Given the description of an element on the screen output the (x, y) to click on. 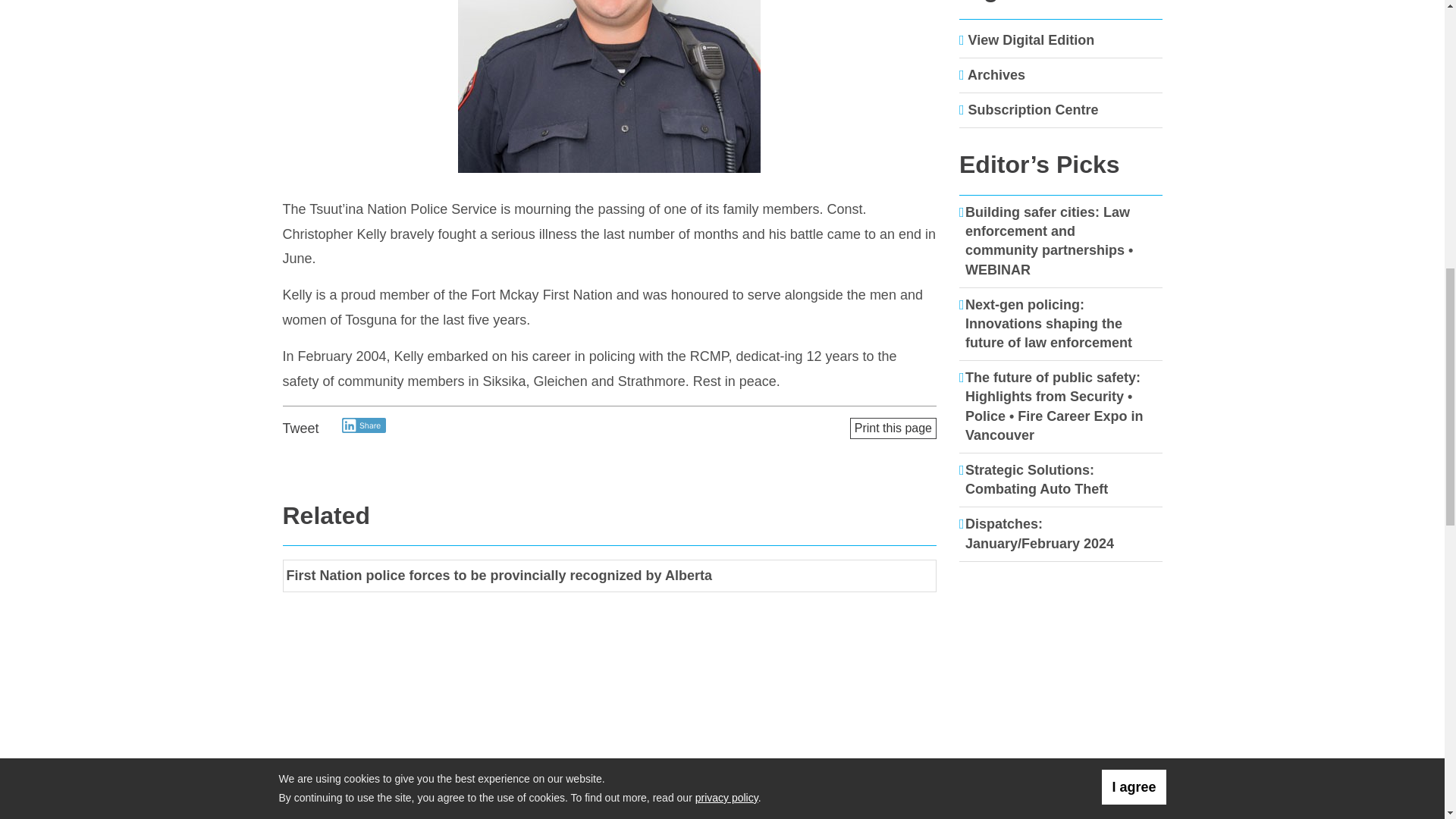
3rd party ad content (1060, 671)
3rd party ad content (1060, 796)
